Given the description of an element on the screen output the (x, y) to click on. 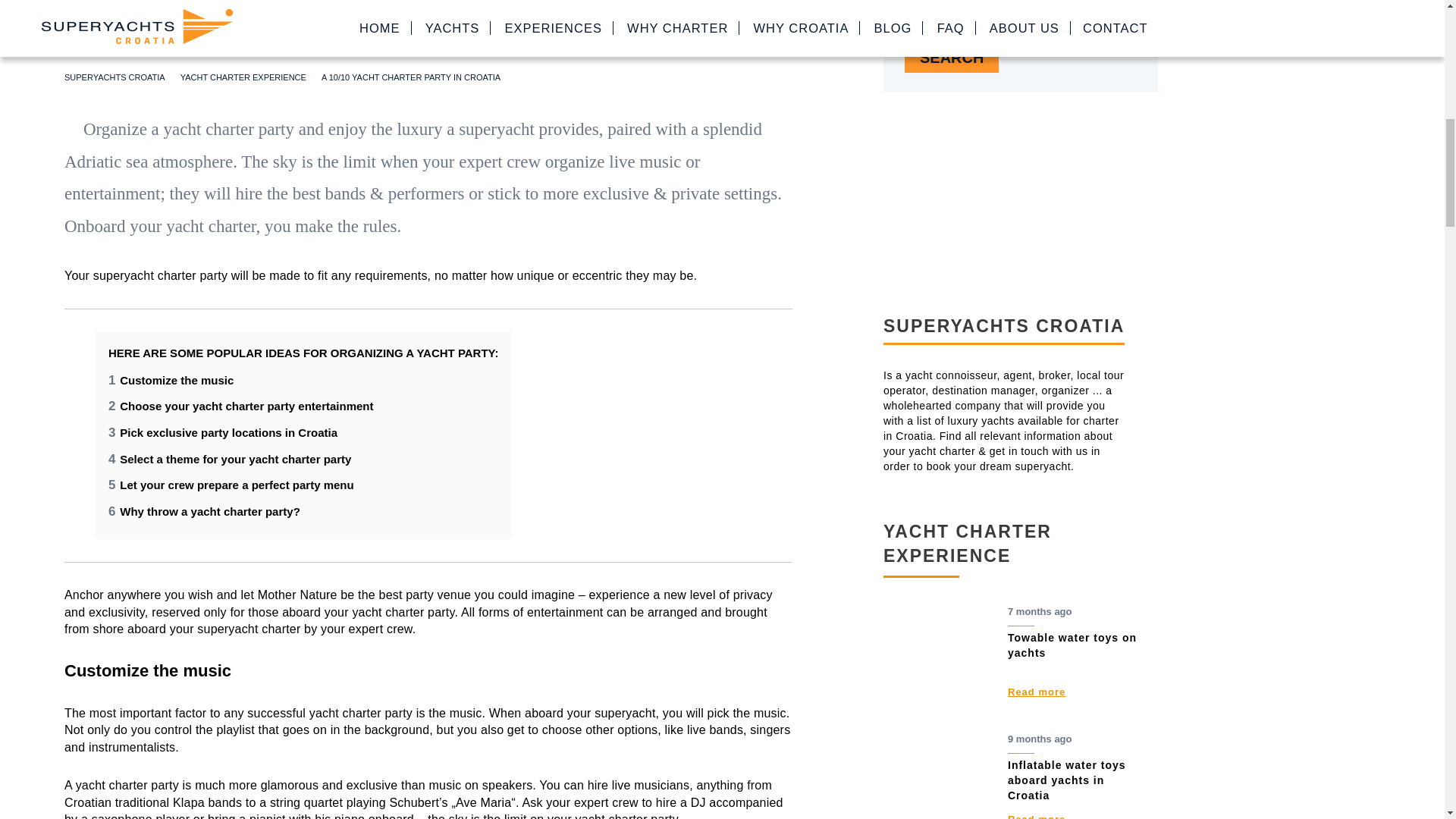
Search (951, 57)
